Given the description of an element on the screen output the (x, y) to click on. 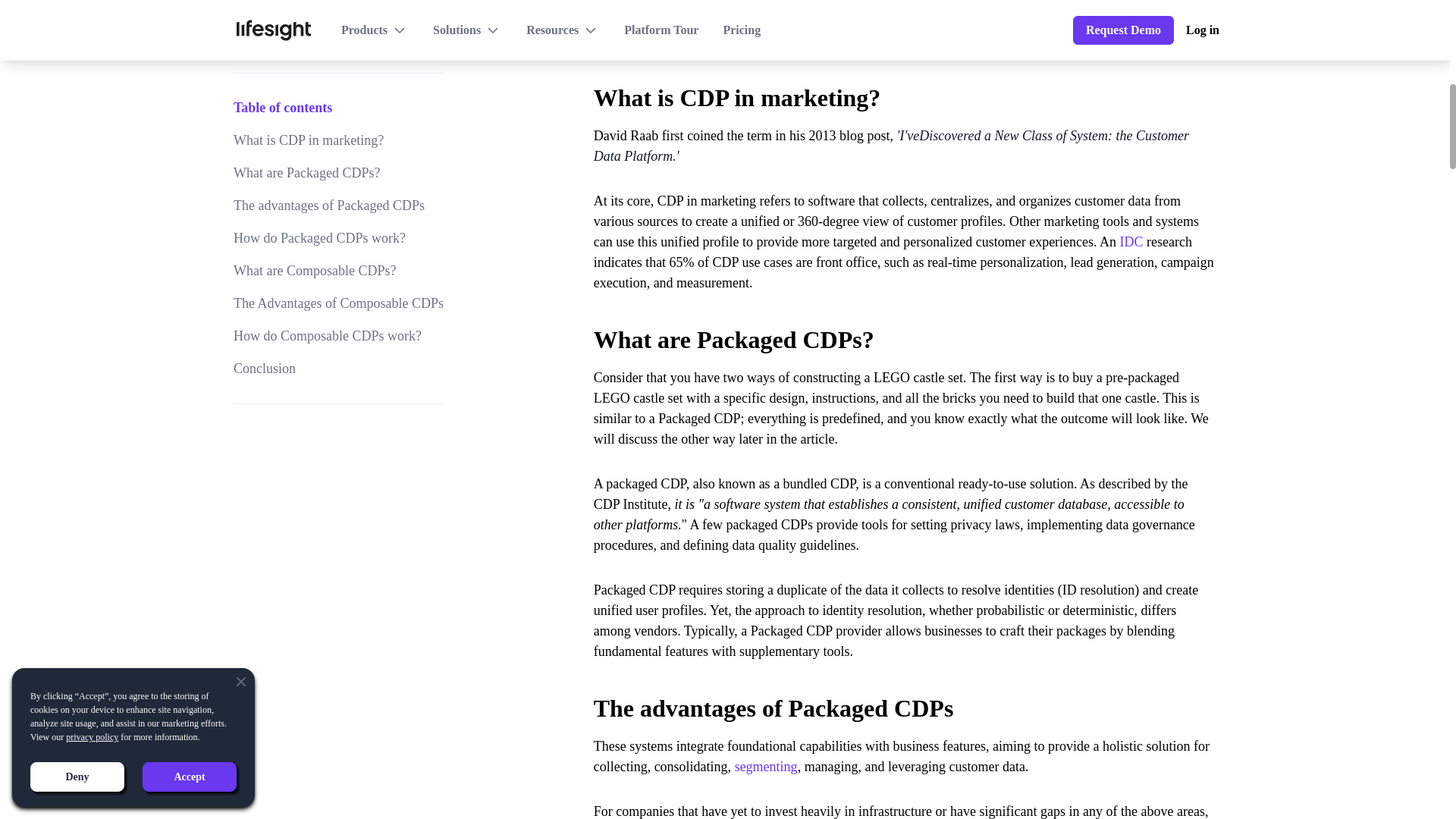
segmenting (766, 766)
The advantages of Packaged CDPs (904, 698)
Discovered a New Class of System: the Customer Data Platform (891, 145)
What are Packaged CDPs? (904, 330)
IDC (1130, 241)
What is CDP in marketing? (904, 88)
